Given the description of an element on the screen output the (x, y) to click on. 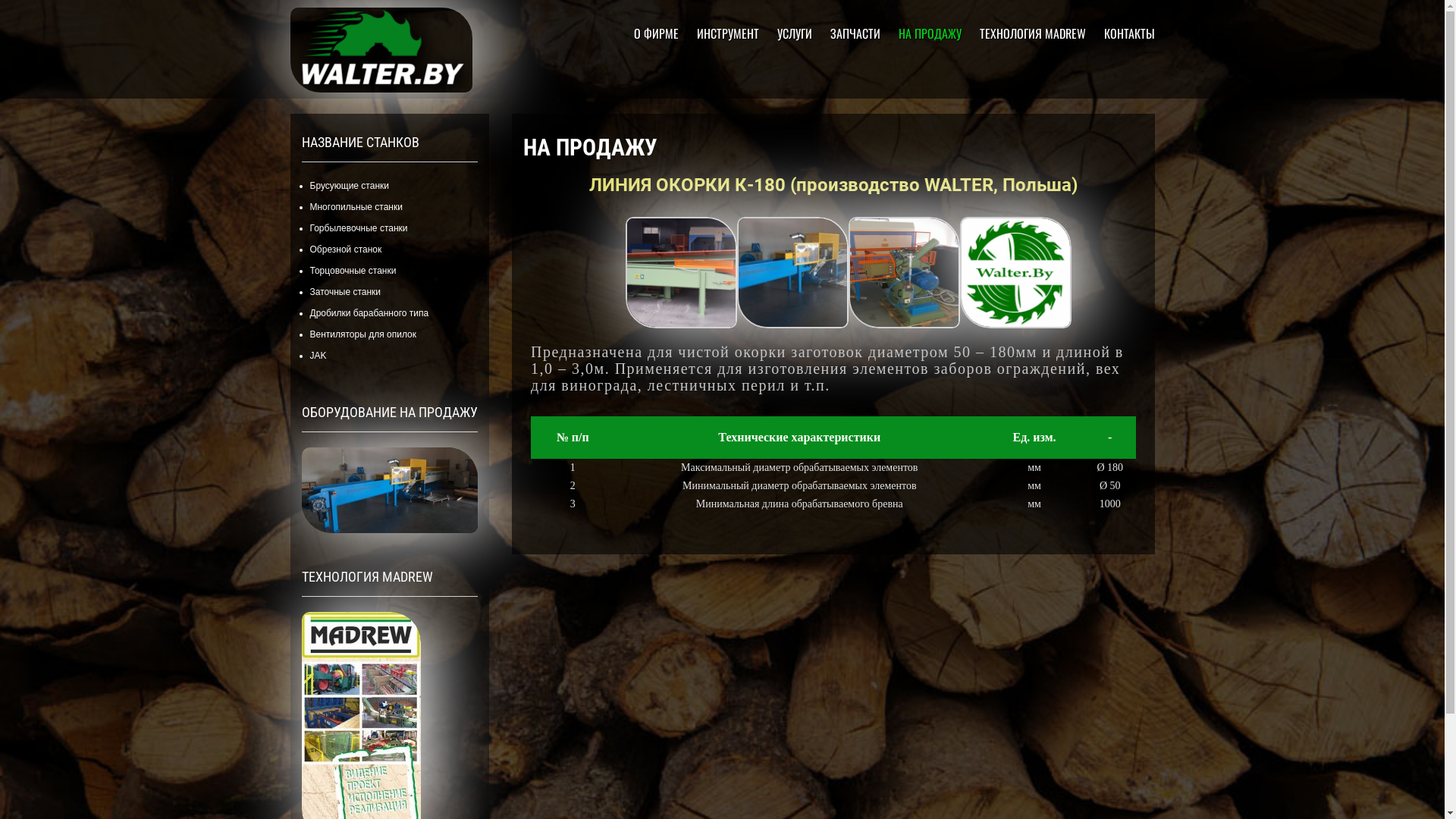
Diana Soligorsk Element type: text (380, 108)
JAK Element type: text (317, 355)
